Given the description of an element on the screen output the (x, y) to click on. 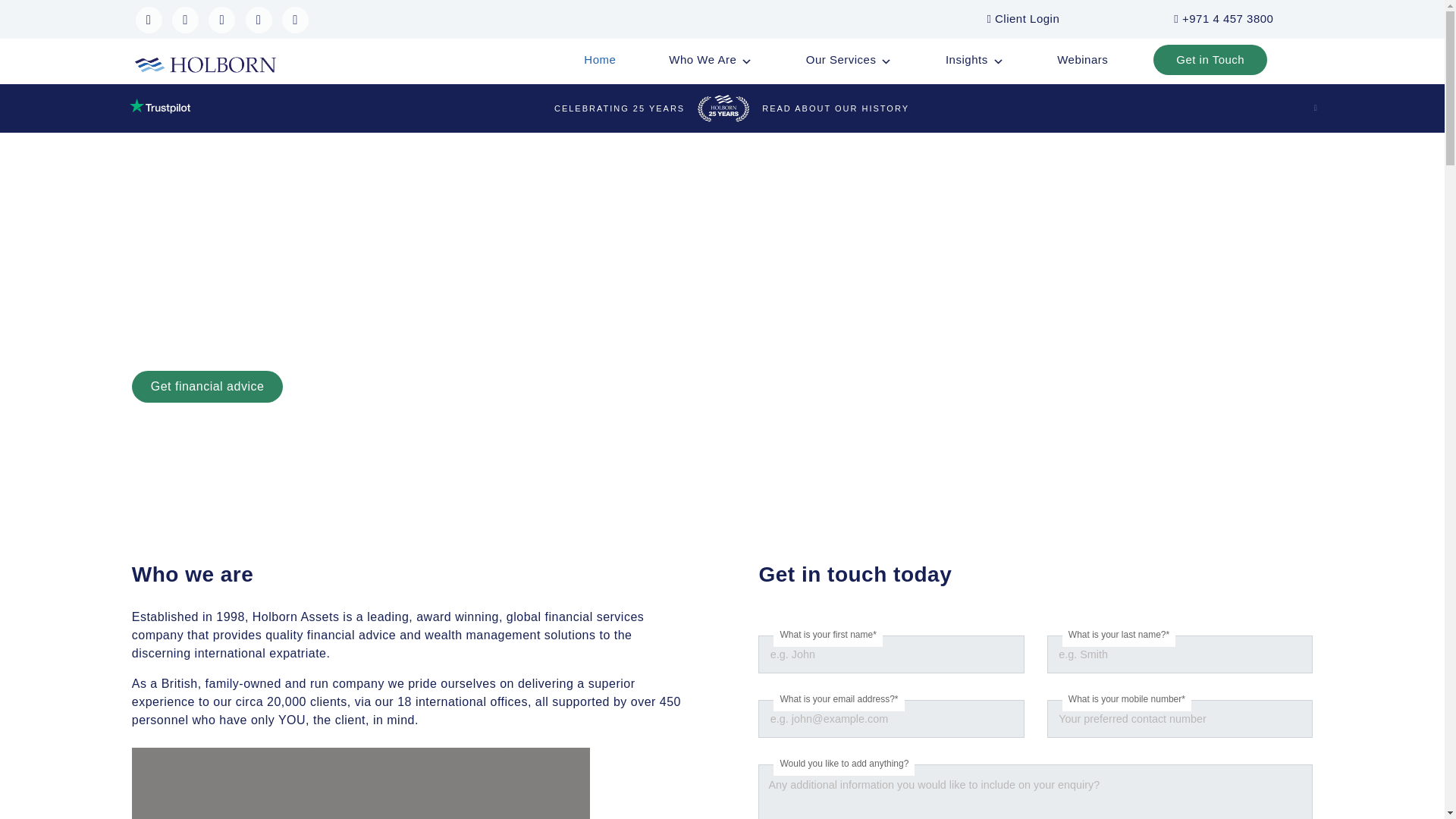
Home (599, 60)
Our Services (848, 60)
Client Login (1023, 18)
Insights (974, 60)
Who We Are (710, 60)
